Given the description of an element on the screen output the (x, y) to click on. 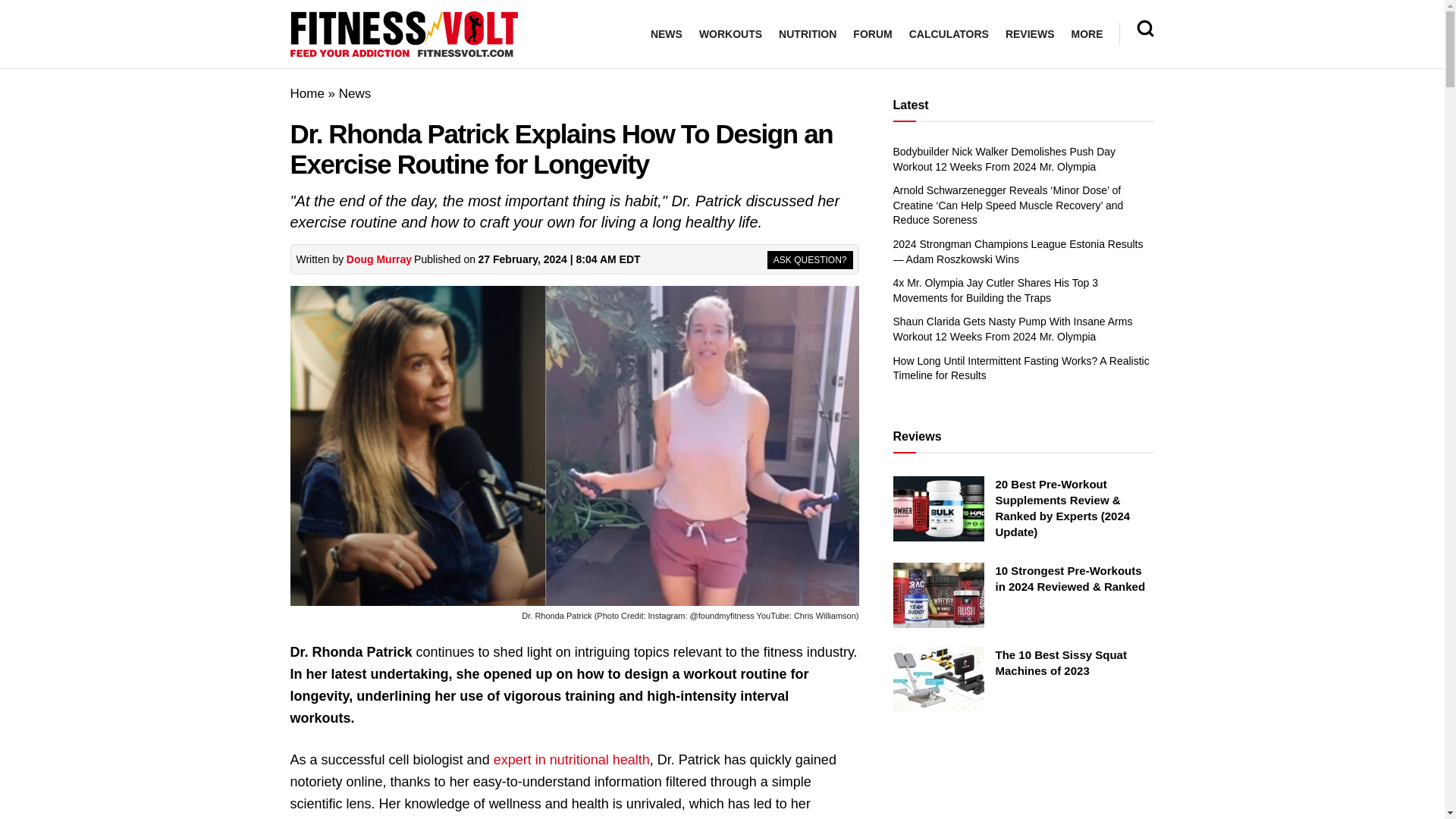
MORE (1086, 34)
FORUM (872, 34)
WORKOUTS (729, 34)
NUTRITION (806, 34)
REVIEWS (1030, 34)
NEWS (666, 34)
CALCULATORS (948, 34)
